Given the description of an element on the screen output the (x, y) to click on. 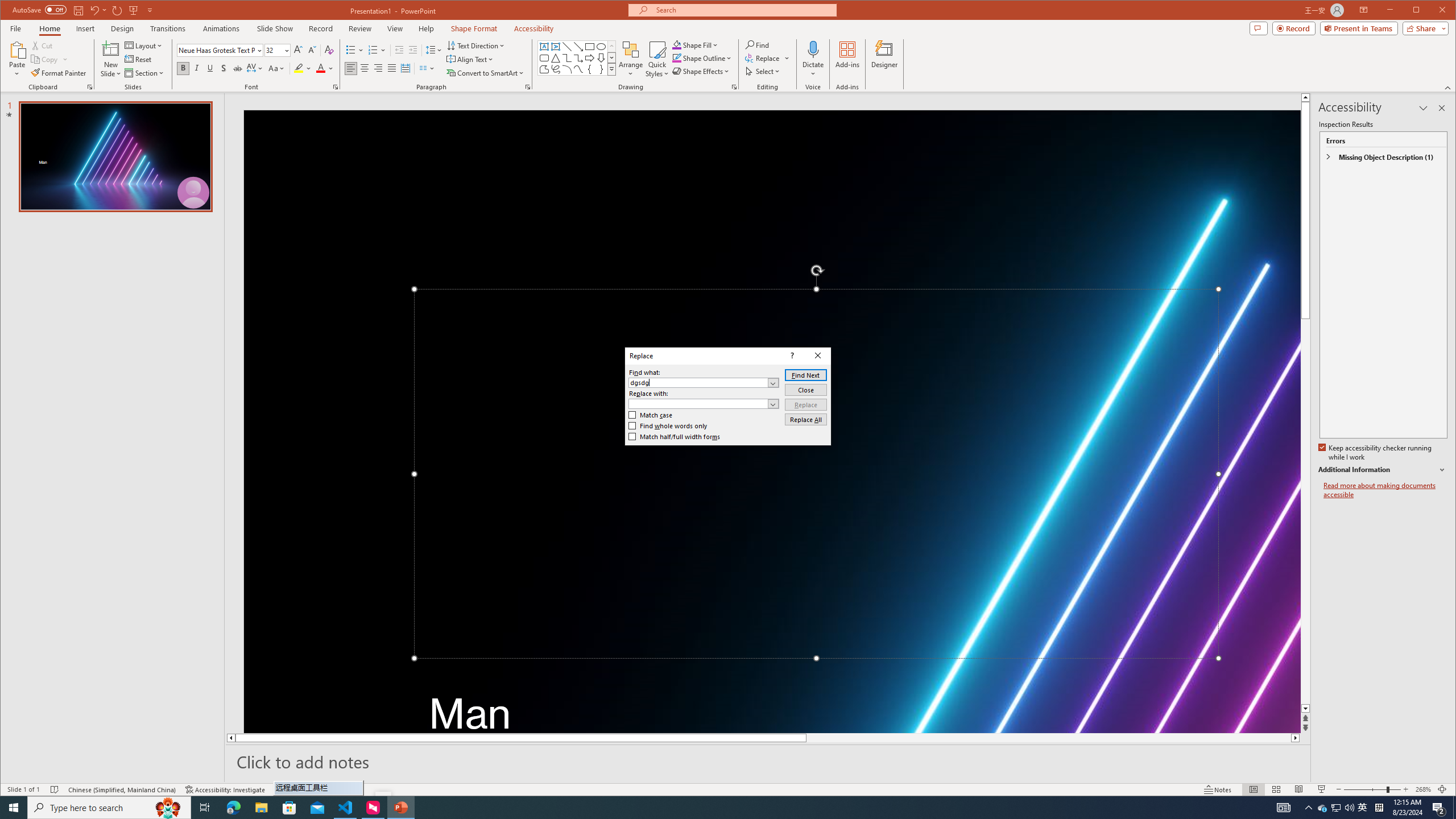
Replace (805, 404)
Context help (791, 355)
Find what (703, 382)
